Given the description of an element on the screen output the (x, y) to click on. 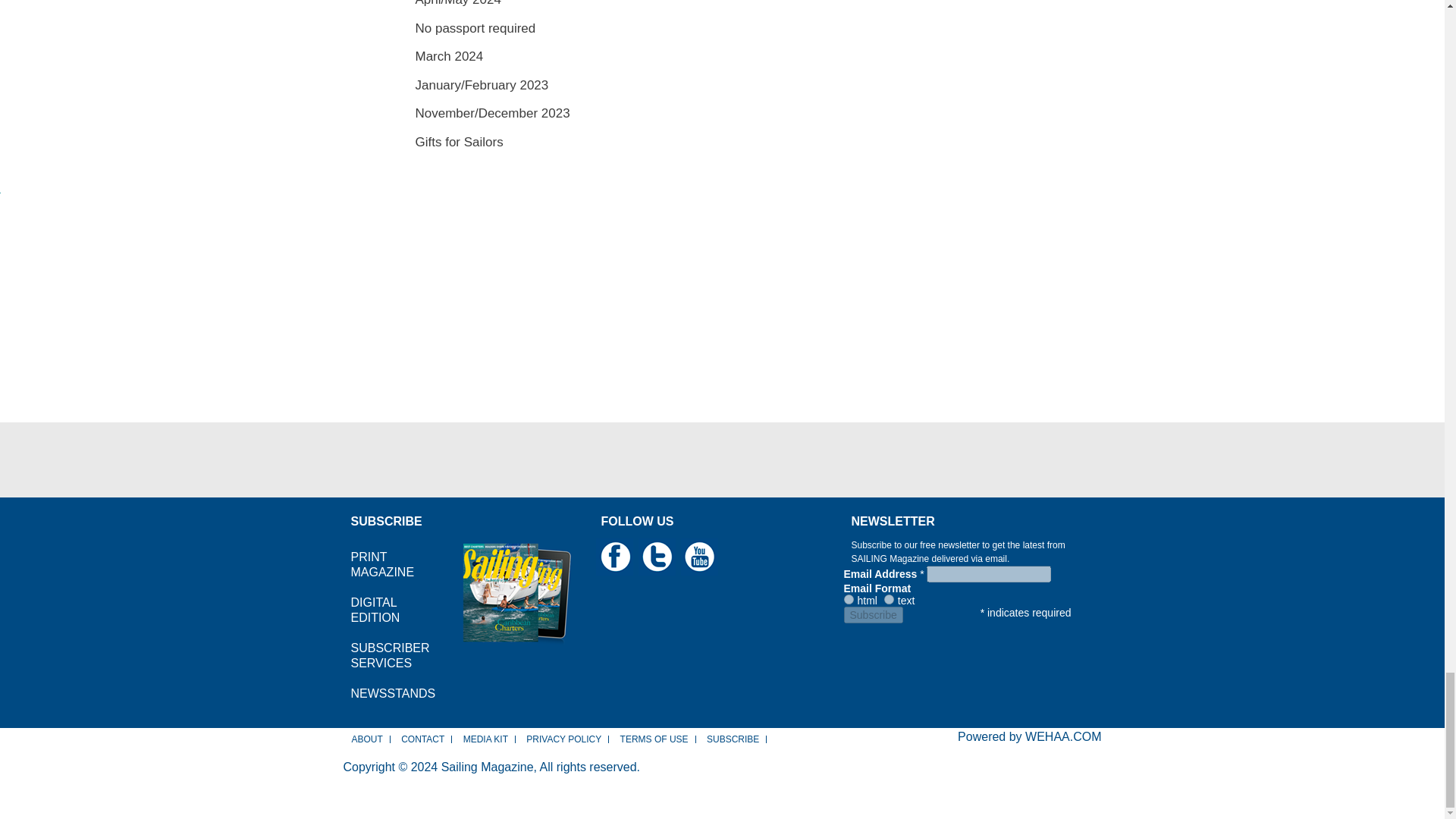
text (888, 599)
html (848, 599)
Subscribe (872, 614)
